Given the description of an element on the screen output the (x, y) to click on. 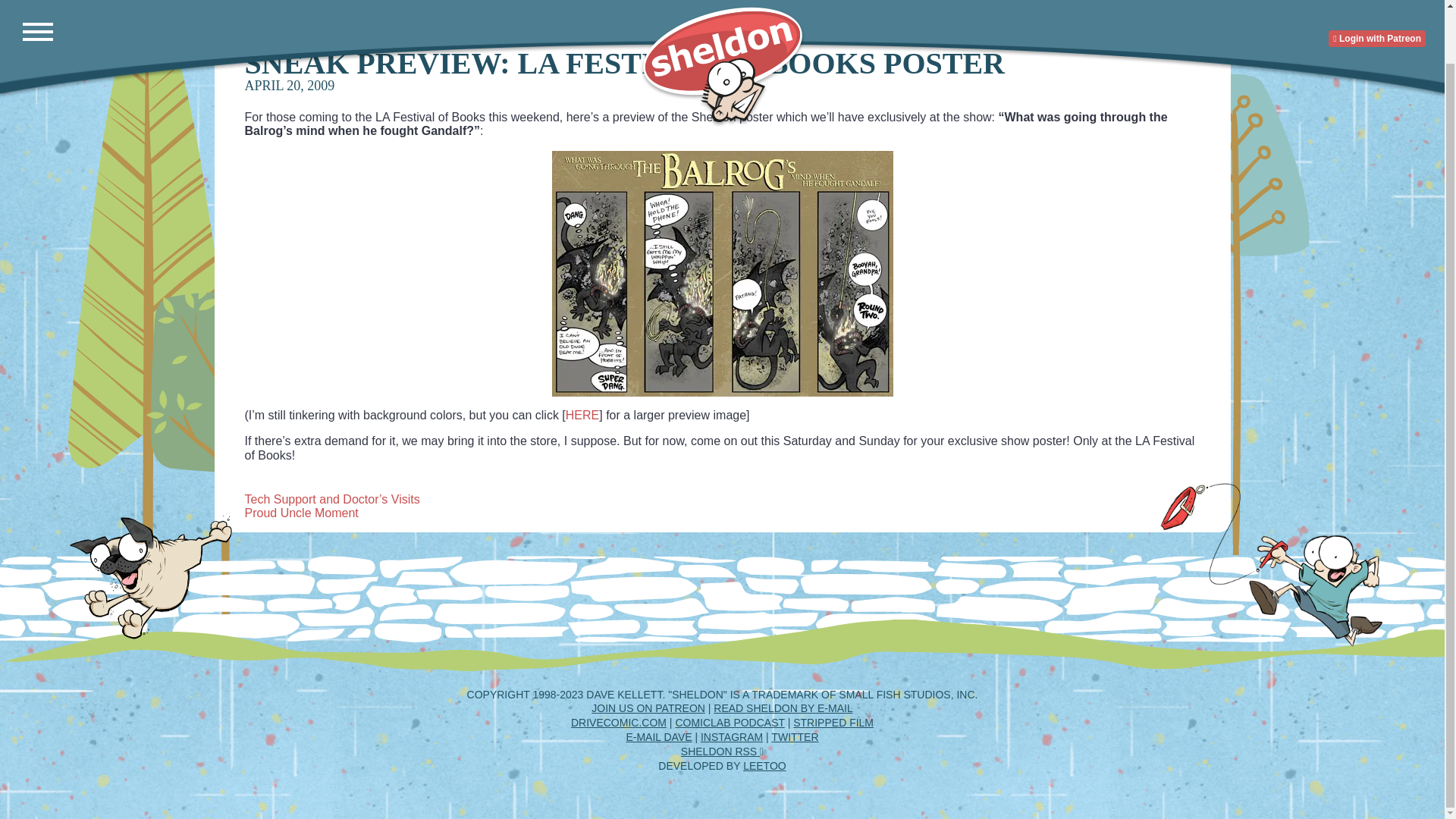
Sheldon (722, 35)
Drive (618, 722)
HERE (582, 414)
JOIN US ON PATREON (647, 707)
COMICLAB PODCAST (729, 722)
E-MAIL DAVE (658, 736)
Join us on Patreon (647, 707)
TWITTER (794, 736)
STRIPPED FILM (833, 722)
DRIVECOMIC.COM (618, 722)
SHELDON RSS (721, 751)
LEETOO (764, 766)
READ SHELDON BY E-MAIL (782, 707)
INSTAGRAM (731, 736)
Read Sheldon by e-mail (782, 707)
